Given the description of an element on the screen output the (x, y) to click on. 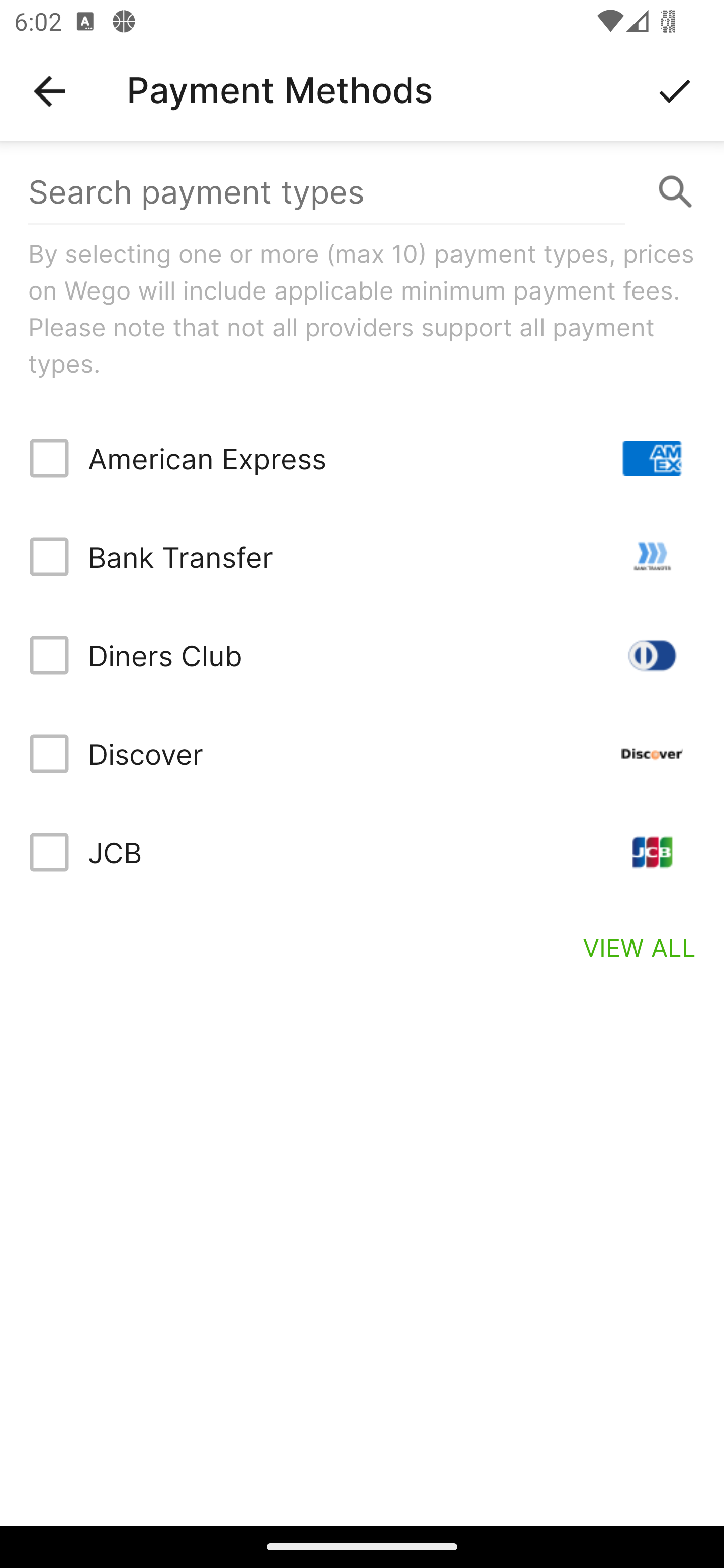
Search payment types  (361, 191)
American Express (362, 458)
Bank Transfer (362, 557)
Diners Club (362, 655)
Discover (362, 753)
JCB (362, 851)
VIEW ALL (639, 946)
